Given the description of an element on the screen output the (x, y) to click on. 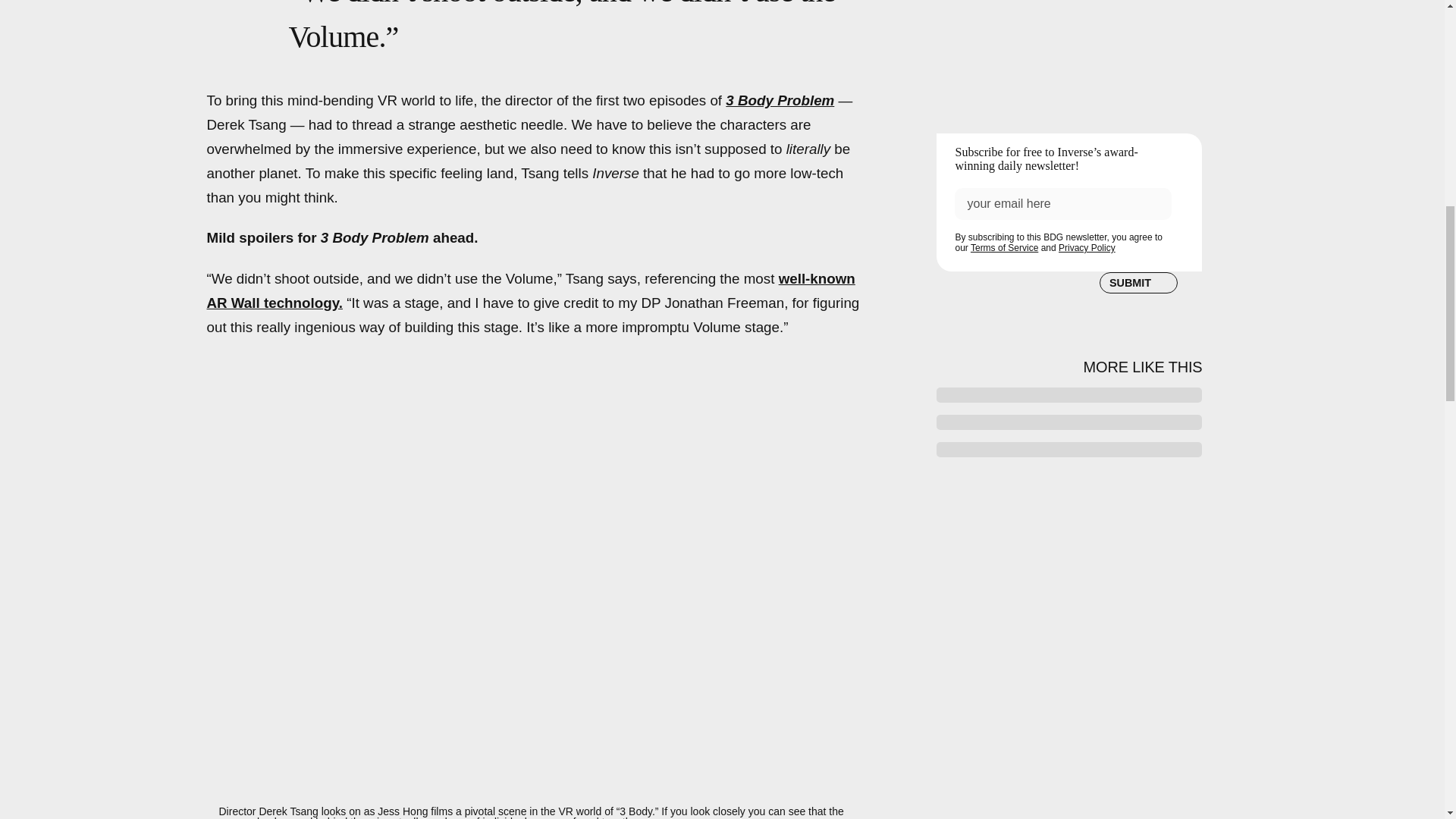
Privacy Policy (1086, 247)
3 Body Problem (779, 100)
SUBMIT (1138, 281)
Terms of Service (1004, 246)
well-known AR Wall technology. (530, 291)
